Given the description of an element on the screen output the (x, y) to click on. 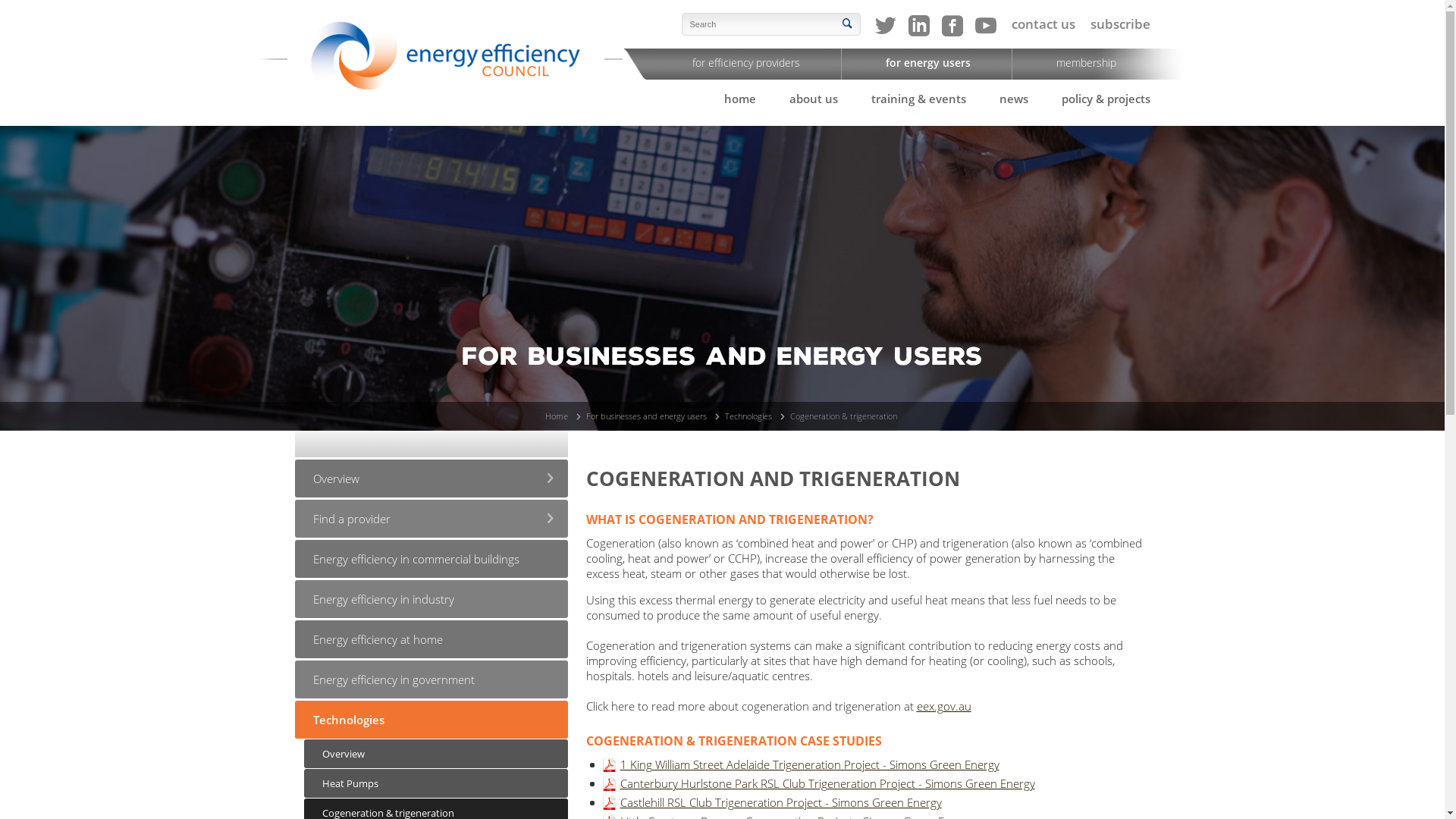
Overview Element type: text (430, 478)
Energy efficiency in government Element type: text (430, 679)
Energy efficiency at home Element type: text (430, 639)
contact us Element type: text (1043, 23)
subscribe Element type: text (1120, 23)
Cogeneration & trigeneration Element type: text (843, 415)
Overview Element type: text (435, 753)
for efficiency providers Element type: text (745, 62)
Energy efficiency in industry Element type: text (430, 599)
Find a provider Element type: text (430, 518)
Home Element type: text (556, 415)
eex.gov.au Element type: text (943, 705)
membership Element type: text (1086, 62)
training & events Element type: text (917, 98)
Energy efficiency in commercial buildings Element type: text (430, 558)
home Element type: text (739, 98)
for energy users Element type: text (927, 62)
Technologies Element type: text (747, 415)
about us Element type: text (812, 98)
Heat Pumps Element type: text (435, 782)
For businesses and energy users Element type: text (646, 415)
Technologies Element type: text (430, 719)
news Element type: text (1013, 98)
policy & projects Element type: text (1105, 98)
